Given the description of an element on the screen output the (x, y) to click on. 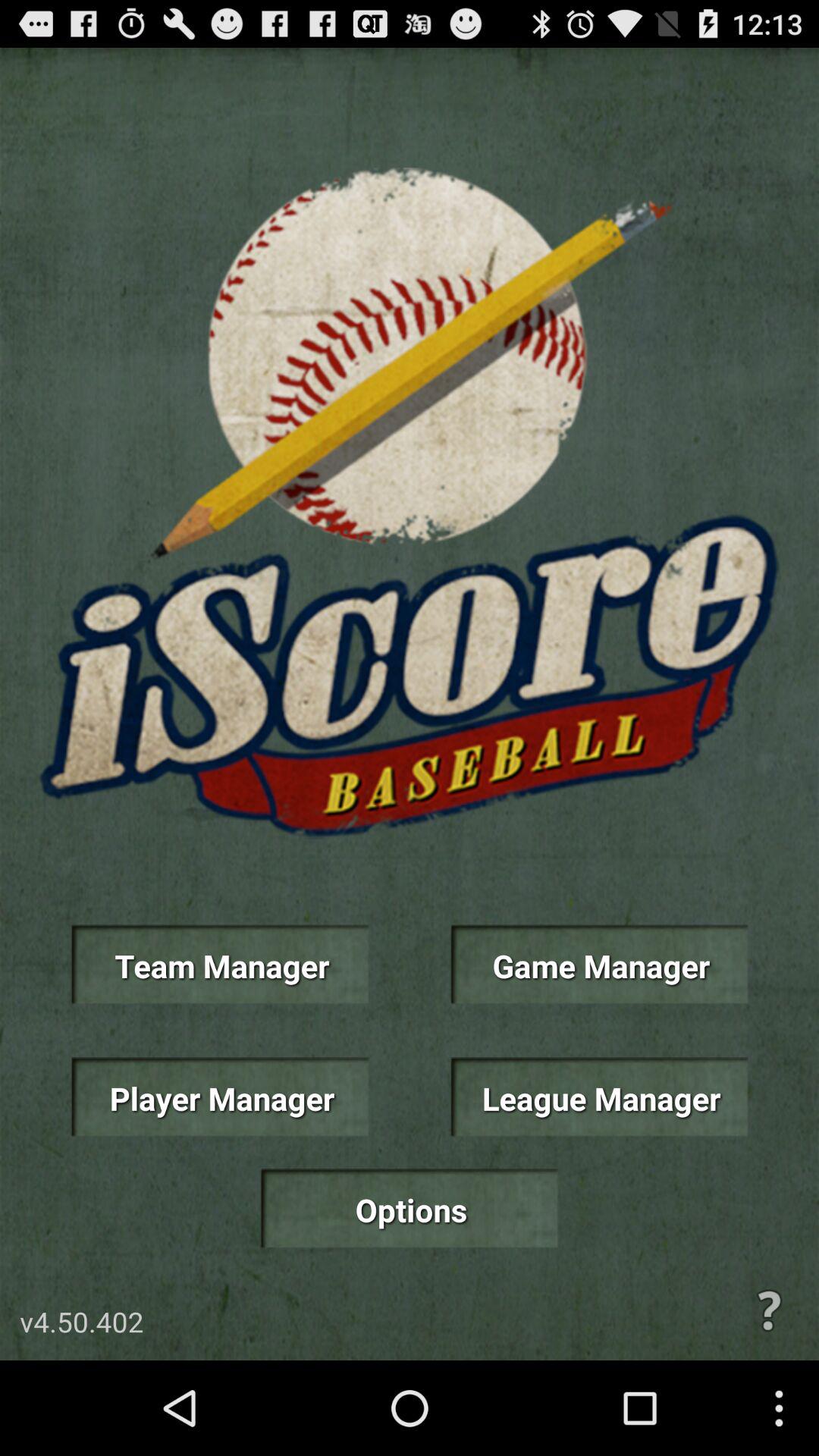
tap button to the right of team manager icon (598, 964)
